Given the description of an element on the screen output the (x, y) to click on. 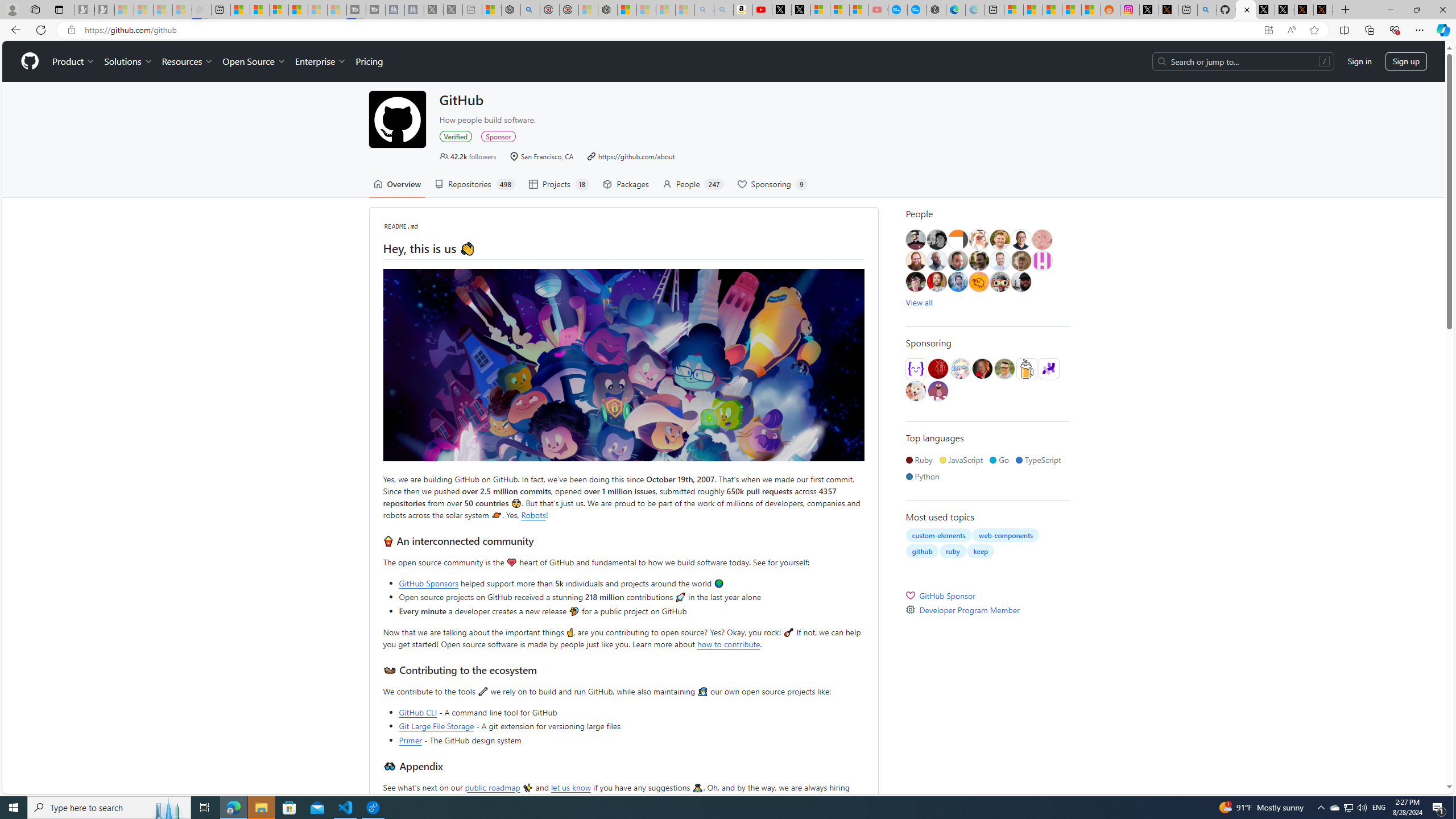
Go (1001, 459)
@mtodd (915, 239)
People (987, 213)
Open Source (254, 60)
@skalnik (1042, 239)
@Homebrew (1026, 368)
@exercism (915, 368)
Product (74, 60)
@nathos (957, 260)
